Given the description of an element on the screen output the (x, y) to click on. 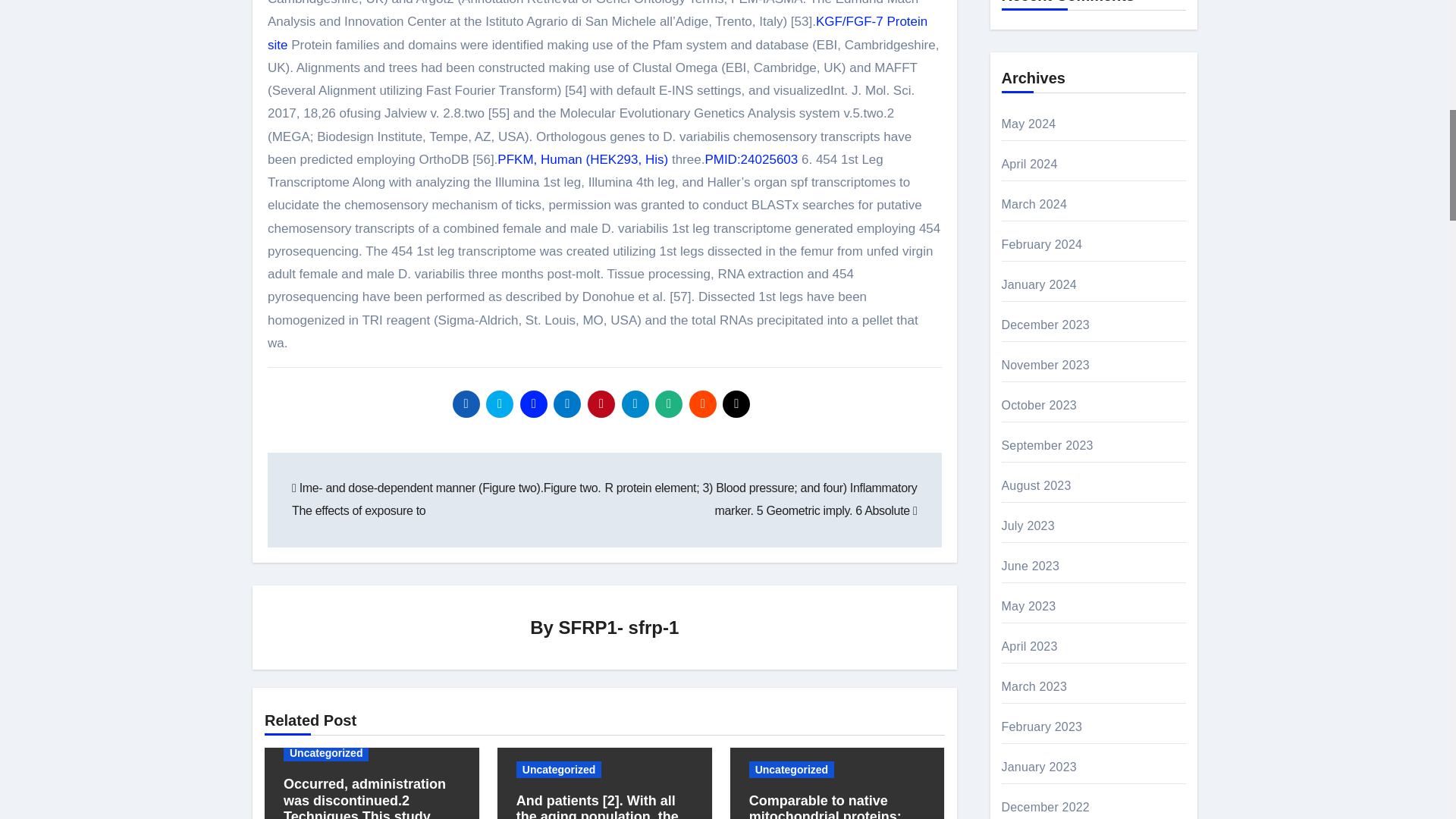
SFRP1- sfrp-1 (619, 627)
PMID:24025603 (750, 159)
Uncategorized (325, 752)
